Given the description of an element on the screen output the (x, y) to click on. 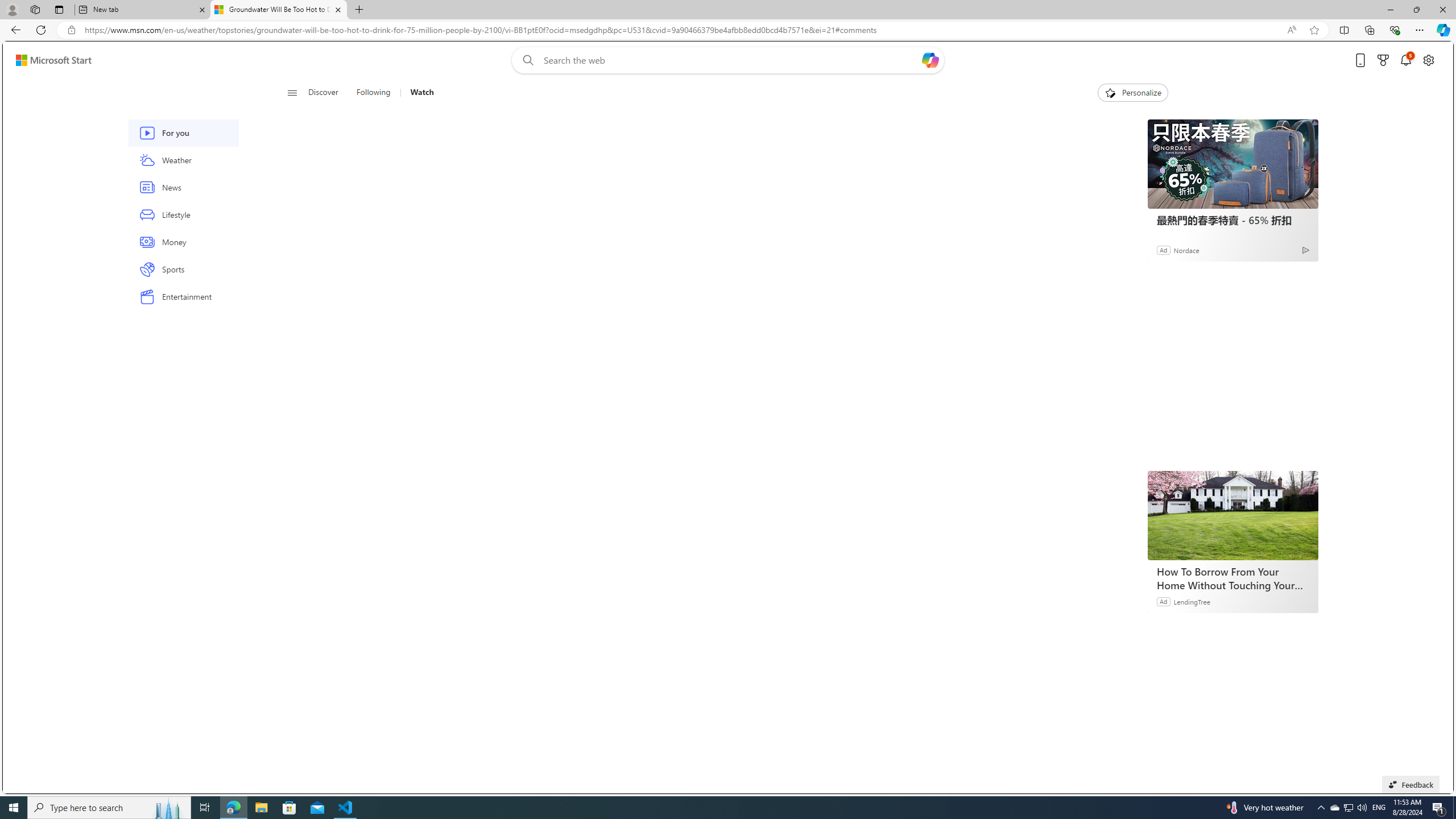
Enter your search term (730, 59)
